Given the description of an element on the screen output the (x, y) to click on. 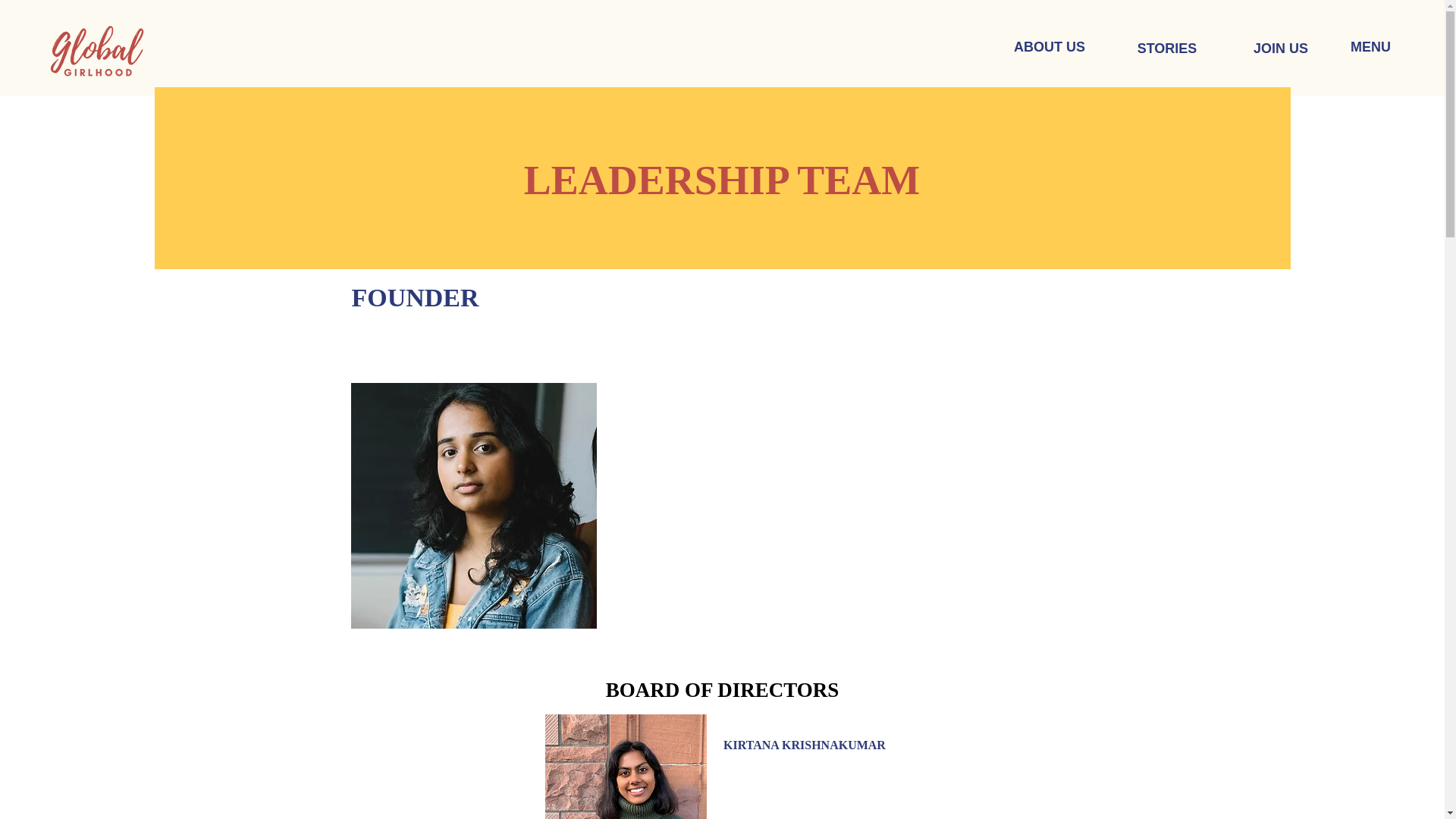
JOIN US (1280, 48)
ABOUT US (1049, 47)
STORIES (1166, 48)
